Given the description of an element on the screen output the (x, y) to click on. 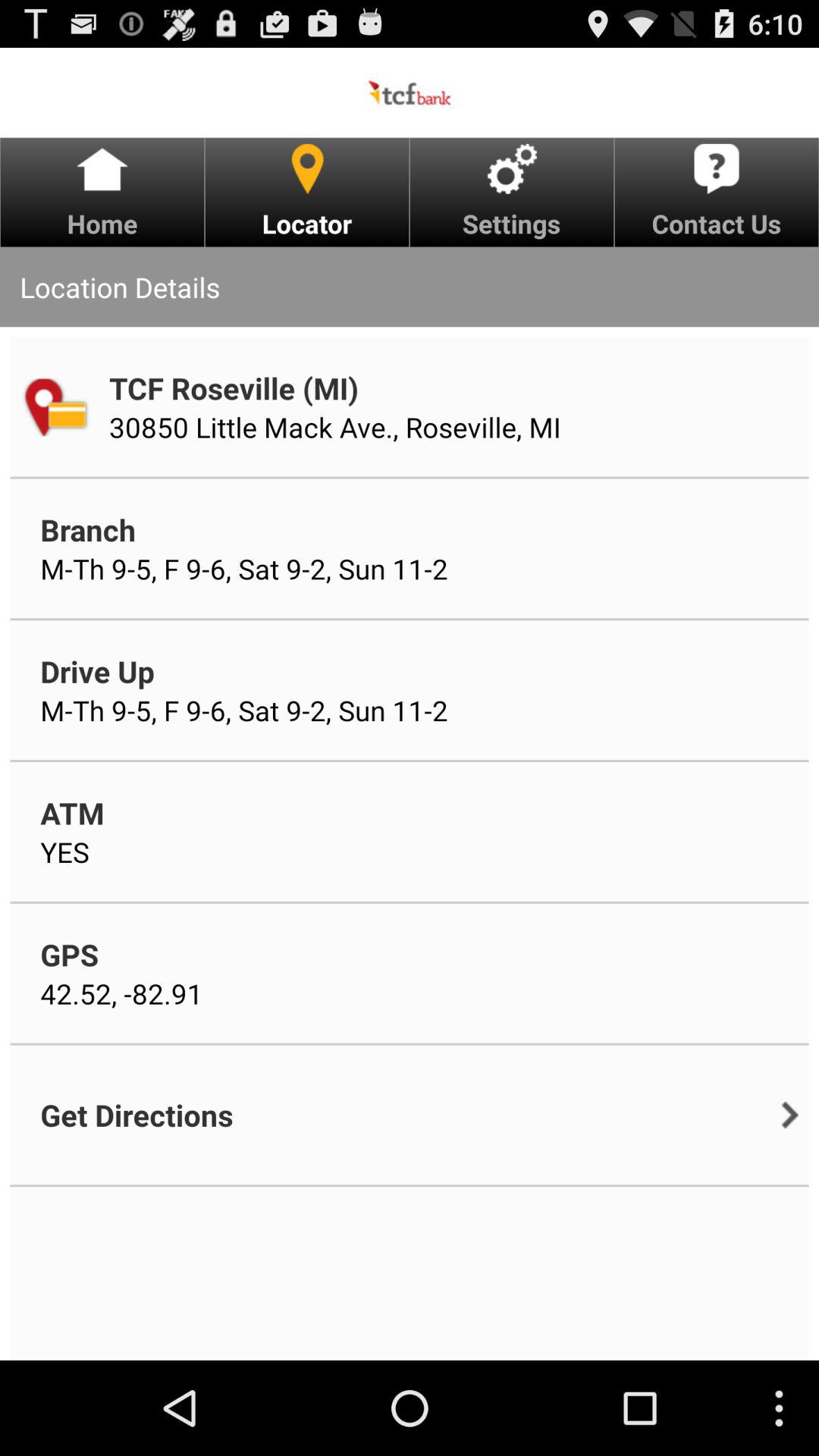
press item below contact us icon (789, 1114)
